Given the description of an element on the screen output the (x, y) to click on. 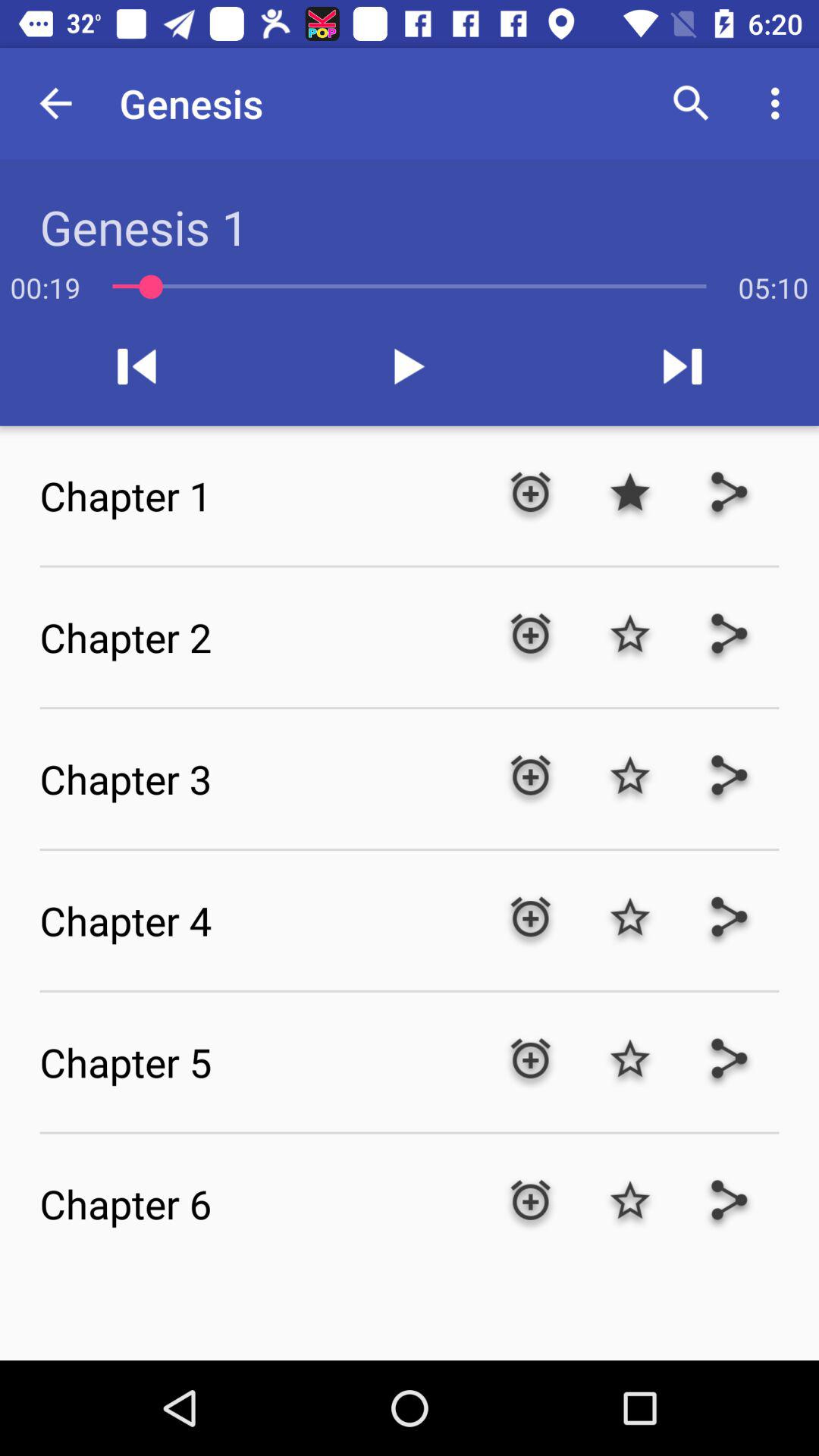
press icon to the right of genesis app (691, 103)
